Given the description of an element on the screen output the (x, y) to click on. 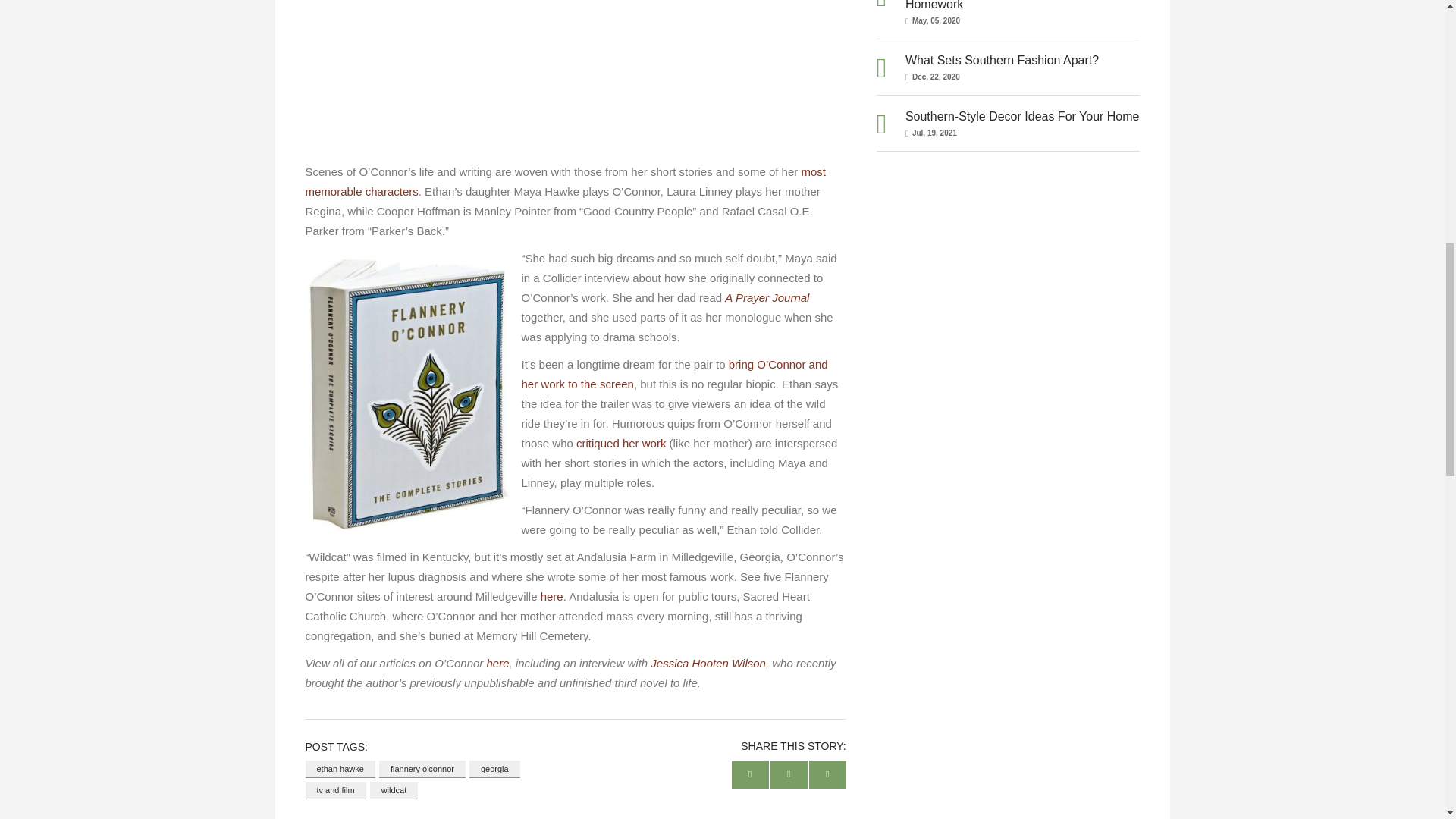
YouTube video player (574, 74)
